Given the description of an element on the screen output the (x, y) to click on. 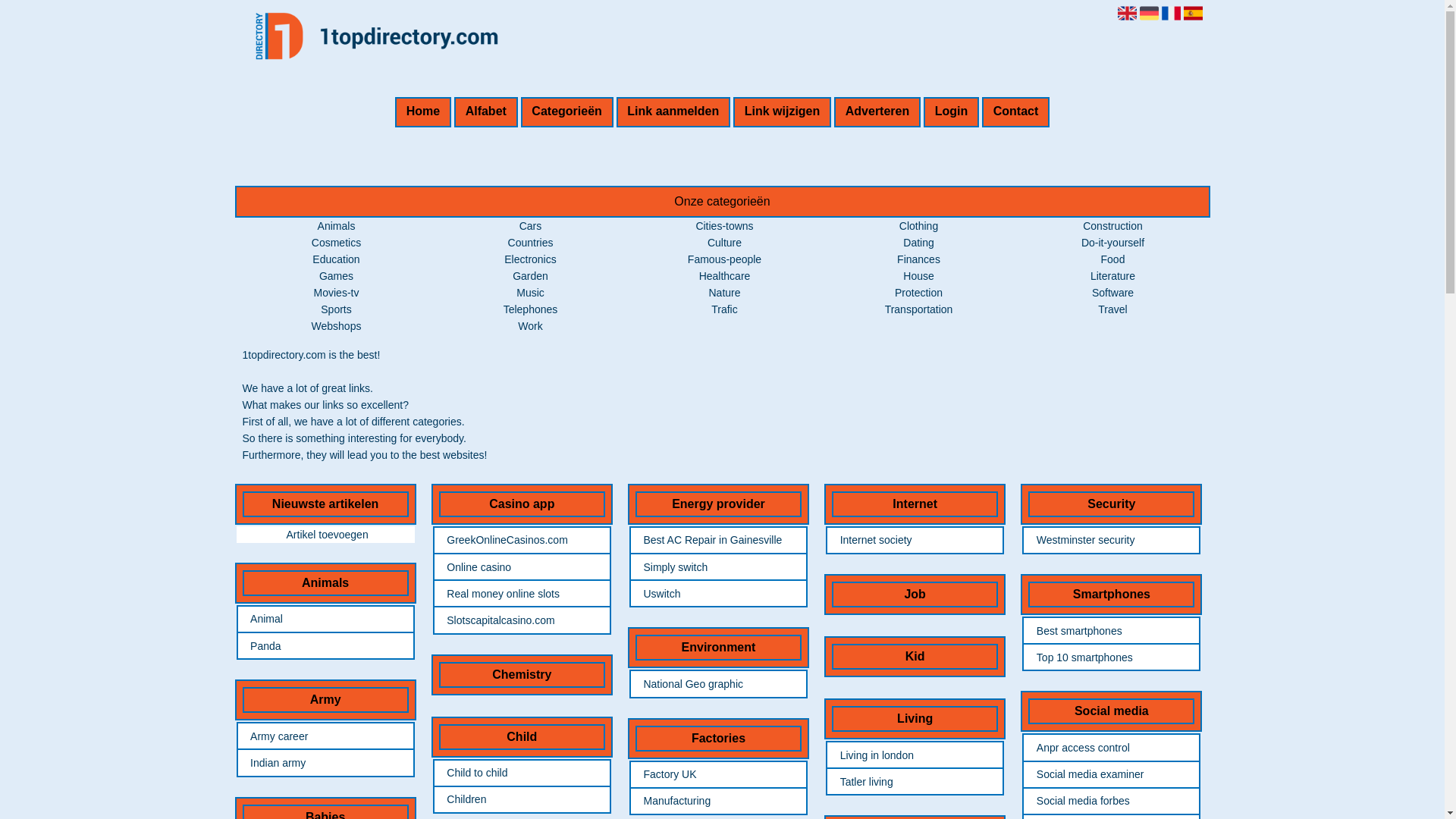
Animals Element type: text (336, 225)
Protection Element type: text (918, 292)
Online casino Element type: text (521, 566)
National Geo graphic Element type: text (718, 683)
Telephones Element type: text (530, 309)
Webshops Element type: text (336, 326)
Panda Element type: text (325, 645)
Alfabet Element type: text (485, 112)
Electronics Element type: text (529, 259)
Children Element type: text (521, 798)
Best AC Repair in Gainesville Element type: text (718, 539)
Transportation Element type: text (918, 309)
Factory UK Element type: text (718, 773)
Uswitch Element type: text (718, 593)
Culture Element type: text (724, 242)
Trafic Element type: text (724, 309)
Dating Element type: text (918, 242)
Movies-tv Element type: text (336, 292)
Garden Element type: text (530, 275)
Internet society Element type: text (915, 539)
Travel Element type: text (1112, 309)
Cosmetics Element type: text (335, 242)
Music Element type: text (530, 292)
Tatler living Element type: text (915, 781)
Indian army Element type: text (325, 762)
Social media examiner Element type: text (1111, 773)
Link aanmelden Element type: text (672, 112)
Animal Element type: text (325, 618)
Simply switch Element type: text (718, 566)
Do-it-yourself Element type: text (1112, 242)
Work Element type: text (529, 326)
Nature Element type: text (724, 292)
GreekOnlineCasinos.com Element type: text (521, 539)
Living in london Element type: text (915, 754)
Countries Element type: text (530, 242)
Login Element type: text (951, 112)
Cities-towns Element type: text (724, 225)
Finances Element type: text (918, 259)
Top 10 smartphones Element type: text (1111, 657)
Army career Element type: text (325, 736)
Clothing Element type: text (918, 225)
Artikel toevoegen Element type: text (325, 534)
Food Element type: text (1113, 259)
Software Element type: text (1112, 292)
Adverteren Element type: text (877, 112)
Child to child Element type: text (521, 772)
Link wijzigen Element type: text (782, 112)
Construction Element type: text (1112, 225)
House Element type: text (918, 275)
Literature Element type: text (1112, 275)
Home Element type: text (423, 112)
Education Element type: text (335, 259)
Healthcare Element type: text (724, 275)
Anpr access control Element type: text (1111, 747)
Real money online slots Element type: text (521, 593)
Social media forbes Element type: text (1111, 800)
Famous-people Element type: text (724, 259)
Slotscapitalcasino.com Element type: text (521, 619)
Manufacturing Element type: text (718, 800)
Westminster security Element type: text (1111, 539)
Sports Element type: text (335, 309)
Best smartphones Element type: text (1111, 630)
Games Element type: text (336, 275)
Cars Element type: text (530, 225)
Contact Element type: text (1015, 112)
